Given the description of an element on the screen output the (x, y) to click on. 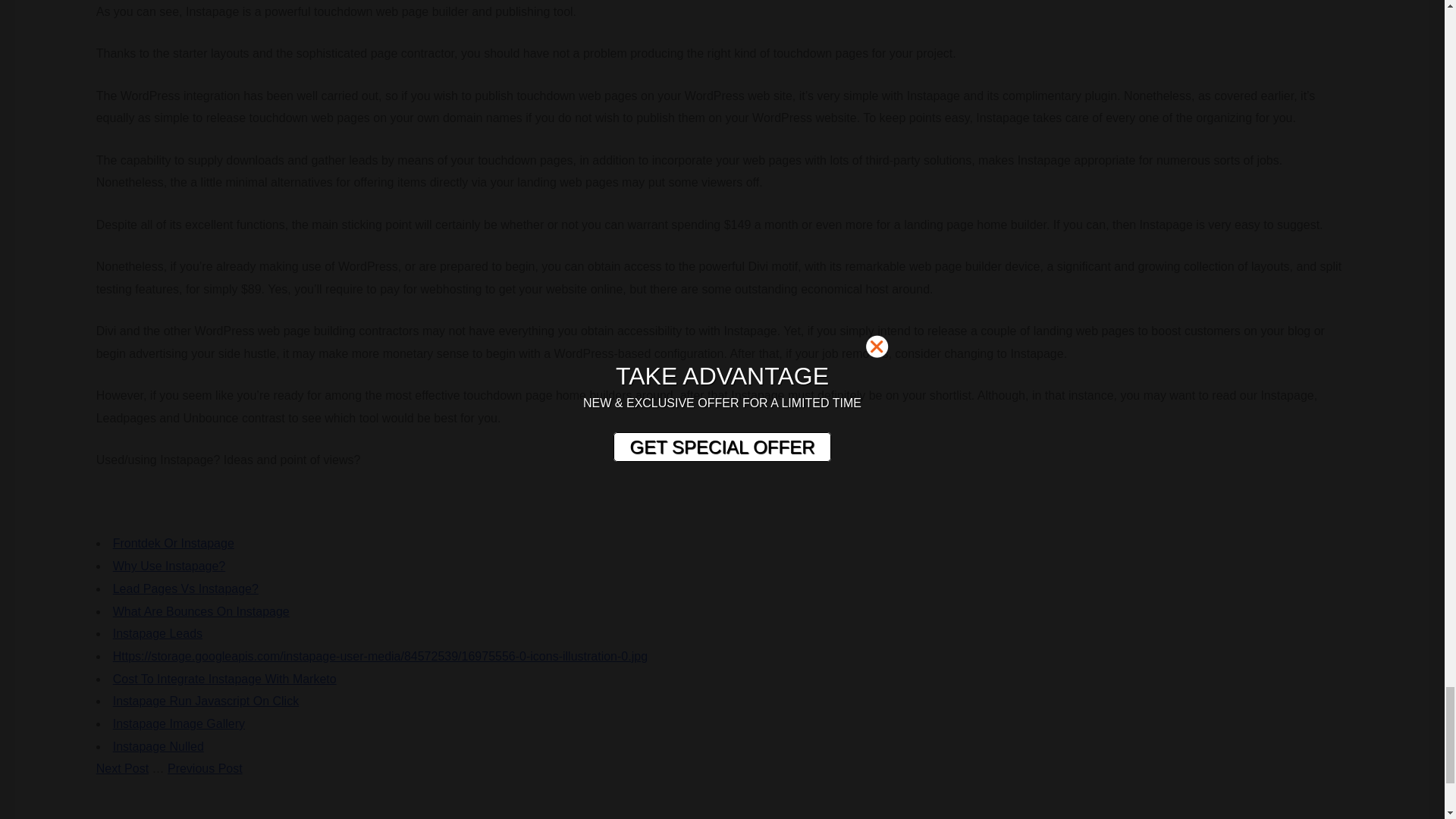
Instapage Run Javascript On Click (205, 700)
Lead Pages Vs Instapage? (186, 588)
Instapage Image Gallery (178, 723)
Cost To Integrate Instapage With Marketo (224, 678)
What Are Bounces On Instapage (201, 611)
Instapage Nulled (158, 746)
Lead Pages Vs Instapage? (186, 588)
Why Use Instapage? (169, 565)
Instapage Leads (157, 633)
Next Post (122, 768)
Instapage Nulled (158, 746)
Frontdek Or Instapage (173, 543)
Instapage Run Javascript On Click (205, 700)
What Are Bounces On Instapage (201, 611)
Cost To Integrate Instapage With Marketo (224, 678)
